Given the description of an element on the screen output the (x, y) to click on. 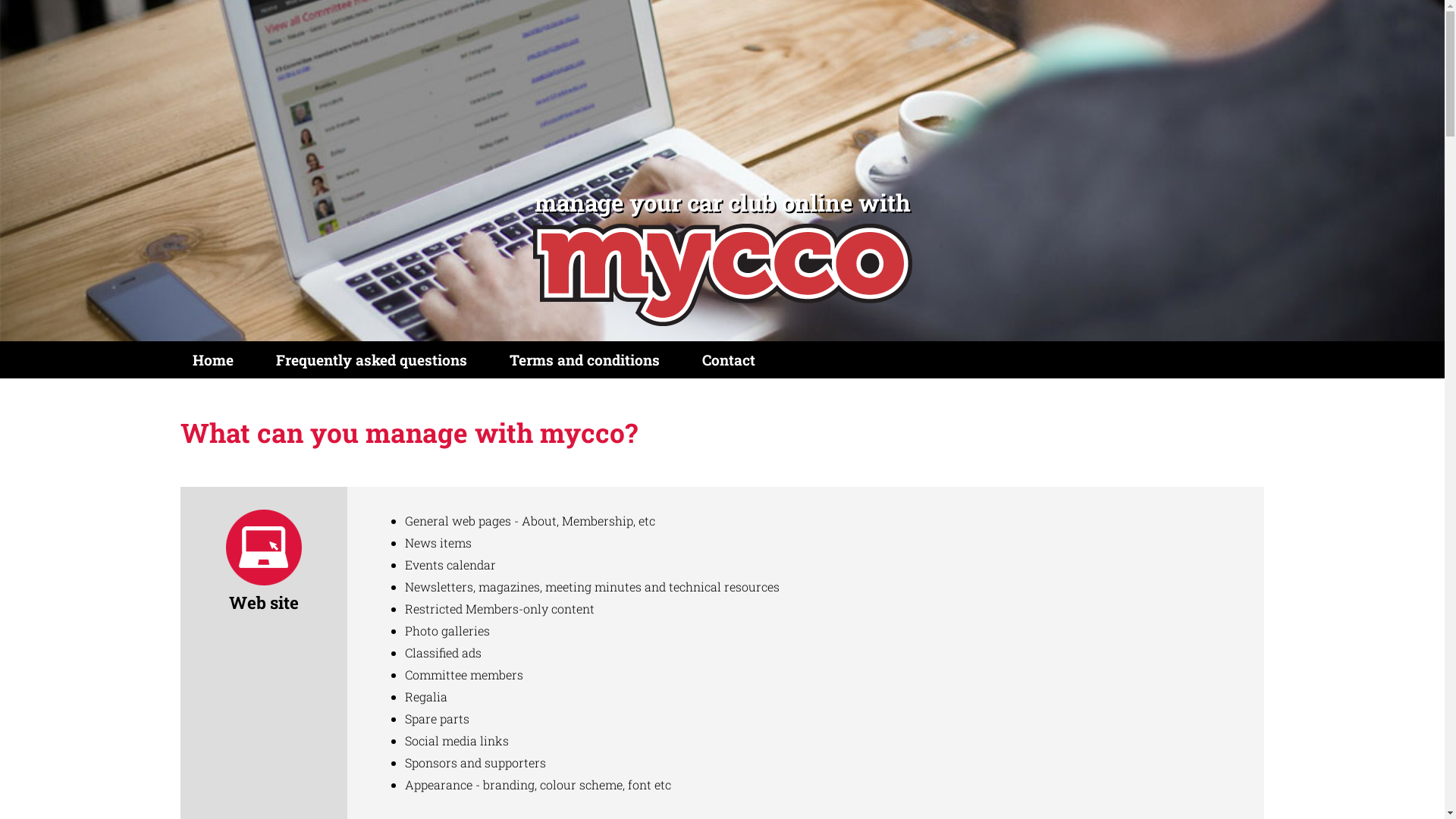
Terms and conditions Element type: text (584, 359)
Contact Element type: text (728, 359)
Home Element type: text (212, 359)
Frequently asked questions Element type: text (371, 359)
